Given the description of an element on the screen output the (x, y) to click on. 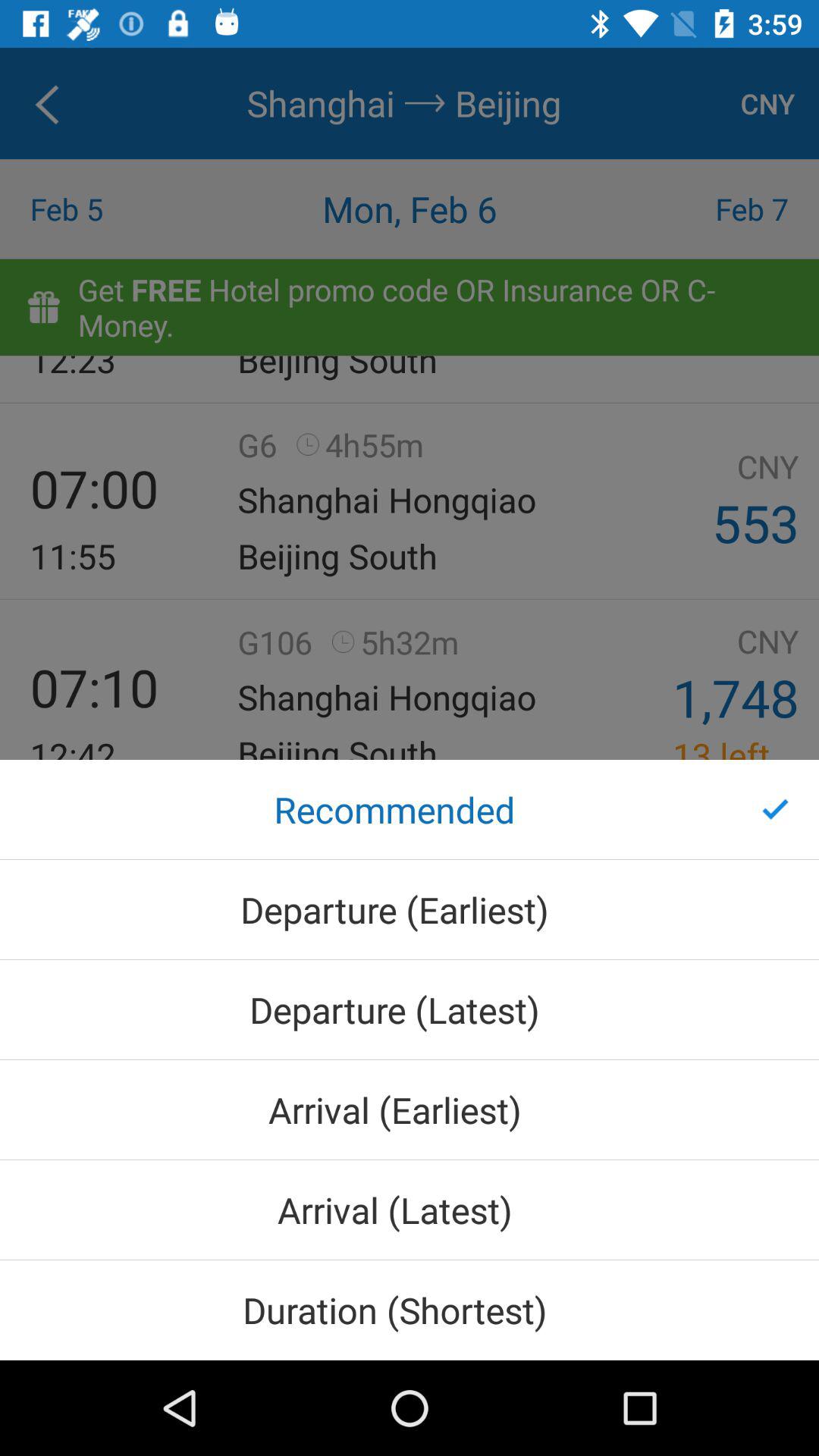
choose the arrival (earliest) (409, 1109)
